Given the description of an element on the screen output the (x, y) to click on. 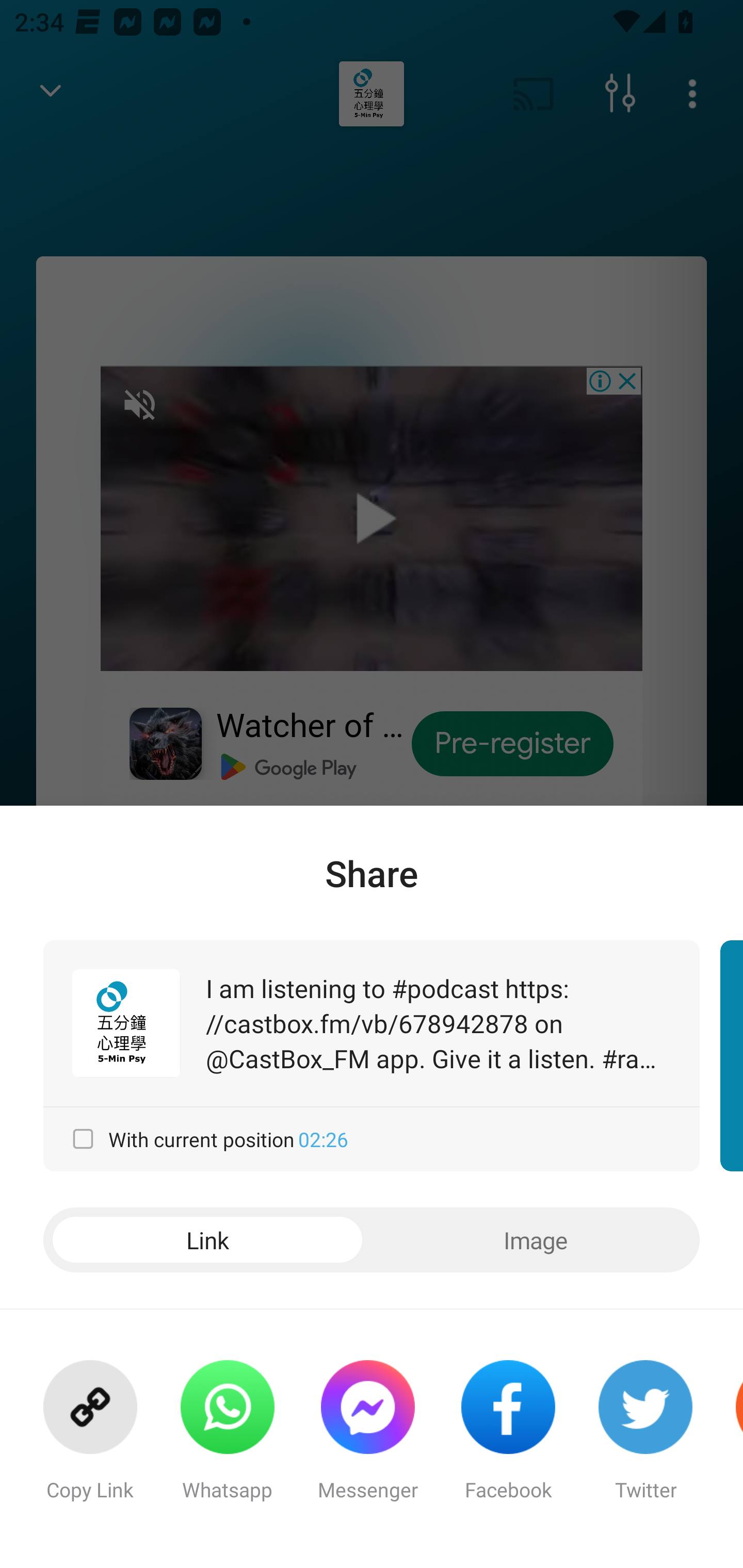
With current position 02:26 (371, 1138)
Link (207, 1240)
Image (535, 1240)
Copy Link (90, 1438)
Whatsapp (227, 1438)
Messenger (367, 1438)
Facebook (508, 1438)
Twitter (645, 1438)
